Given the description of an element on the screen output the (x, y) to click on. 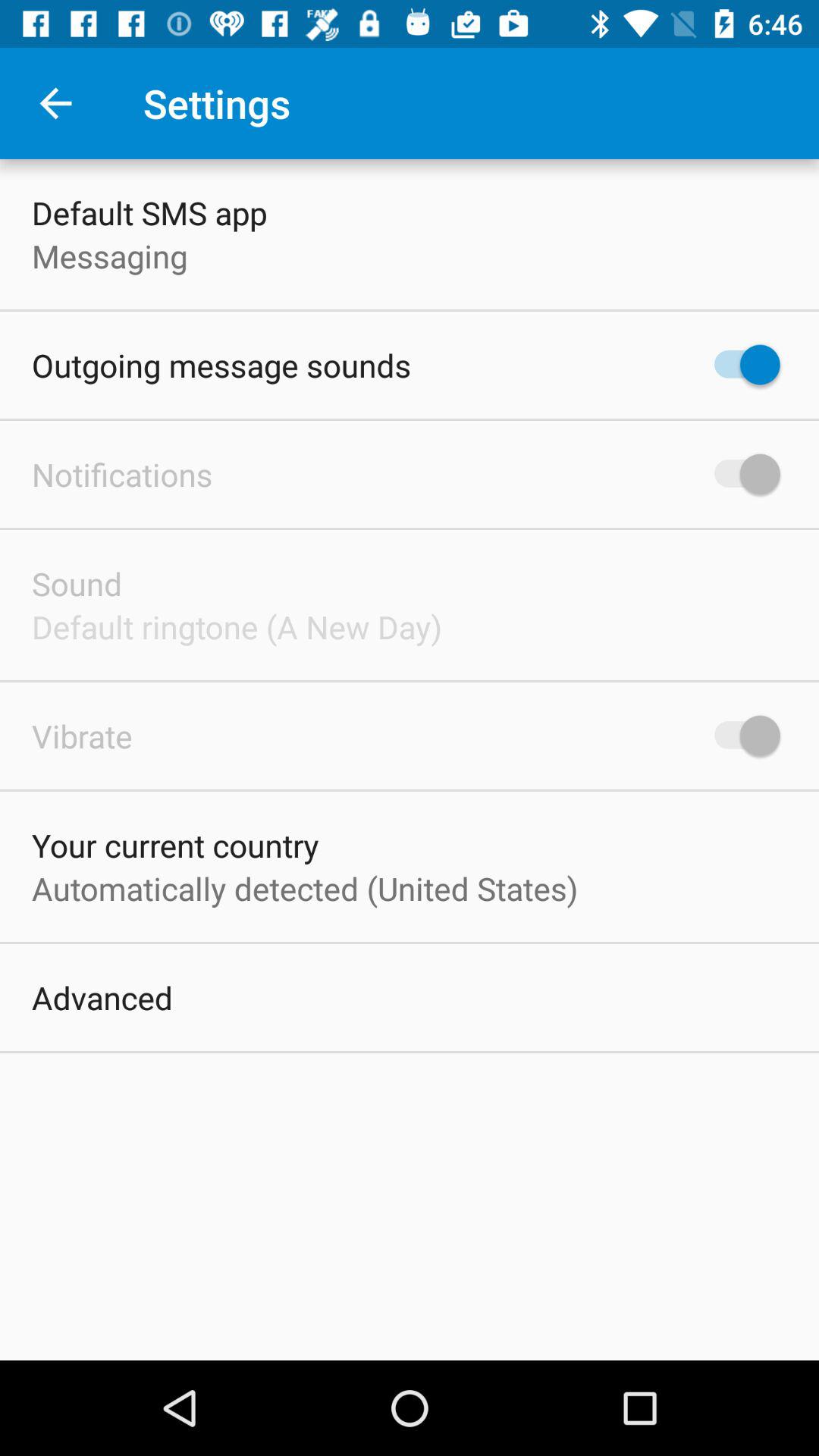
open your current country (175, 844)
